Given the description of an element on the screen output the (x, y) to click on. 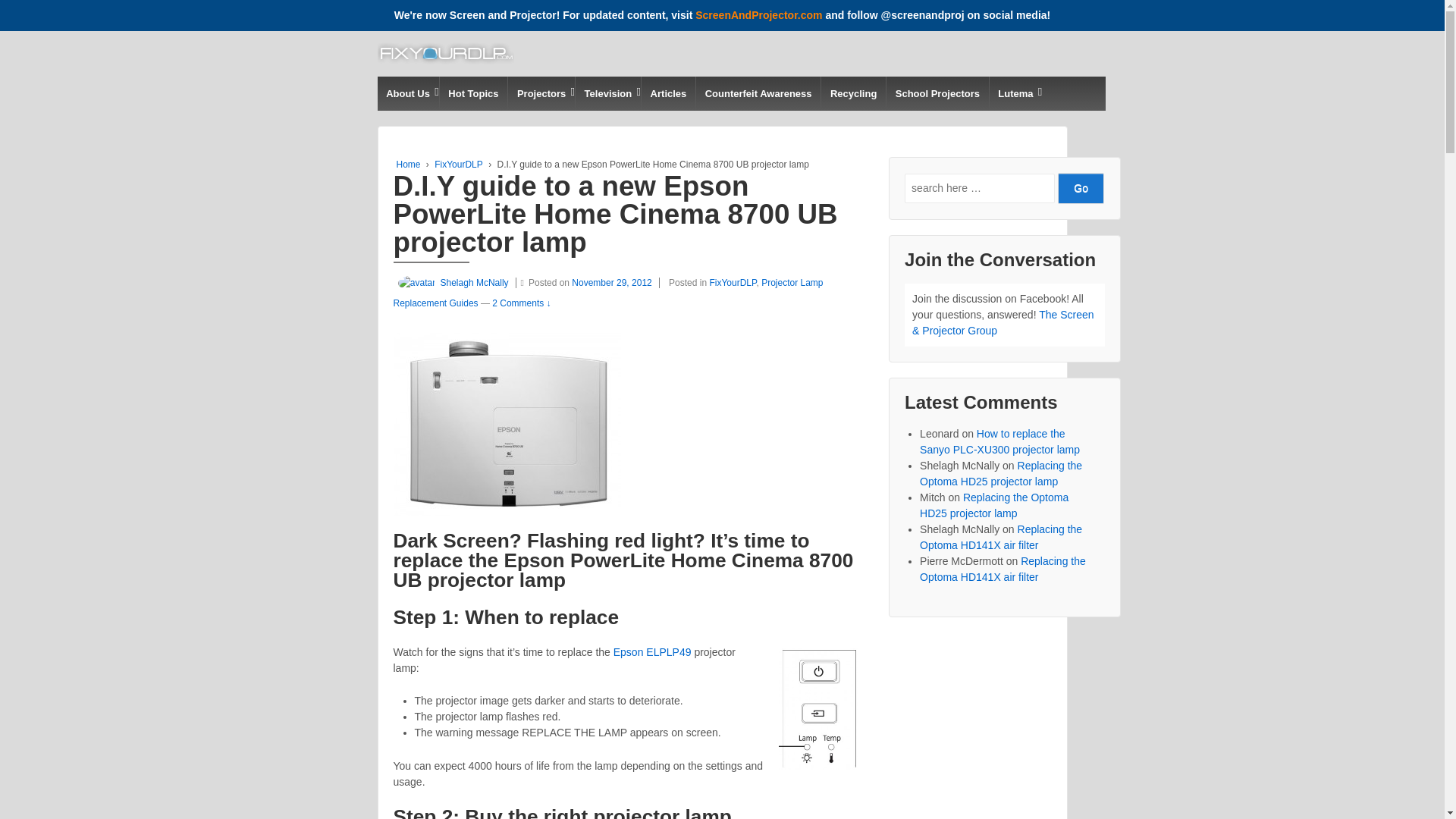
Projectors (540, 93)
About Us (408, 93)
School Projectors (936, 93)
Home (408, 163)
Lutema (1015, 93)
ScreenAndProjector.com (758, 15)
Television (607, 93)
Counterfeit Awareness (758, 93)
FixYourDLP (458, 163)
Go (1080, 187)
Articles (667, 93)
View all posts by Shelagh McNally (450, 282)
Recycling (853, 93)
Hot Topics (473, 93)
